Given the description of an element on the screen output the (x, y) to click on. 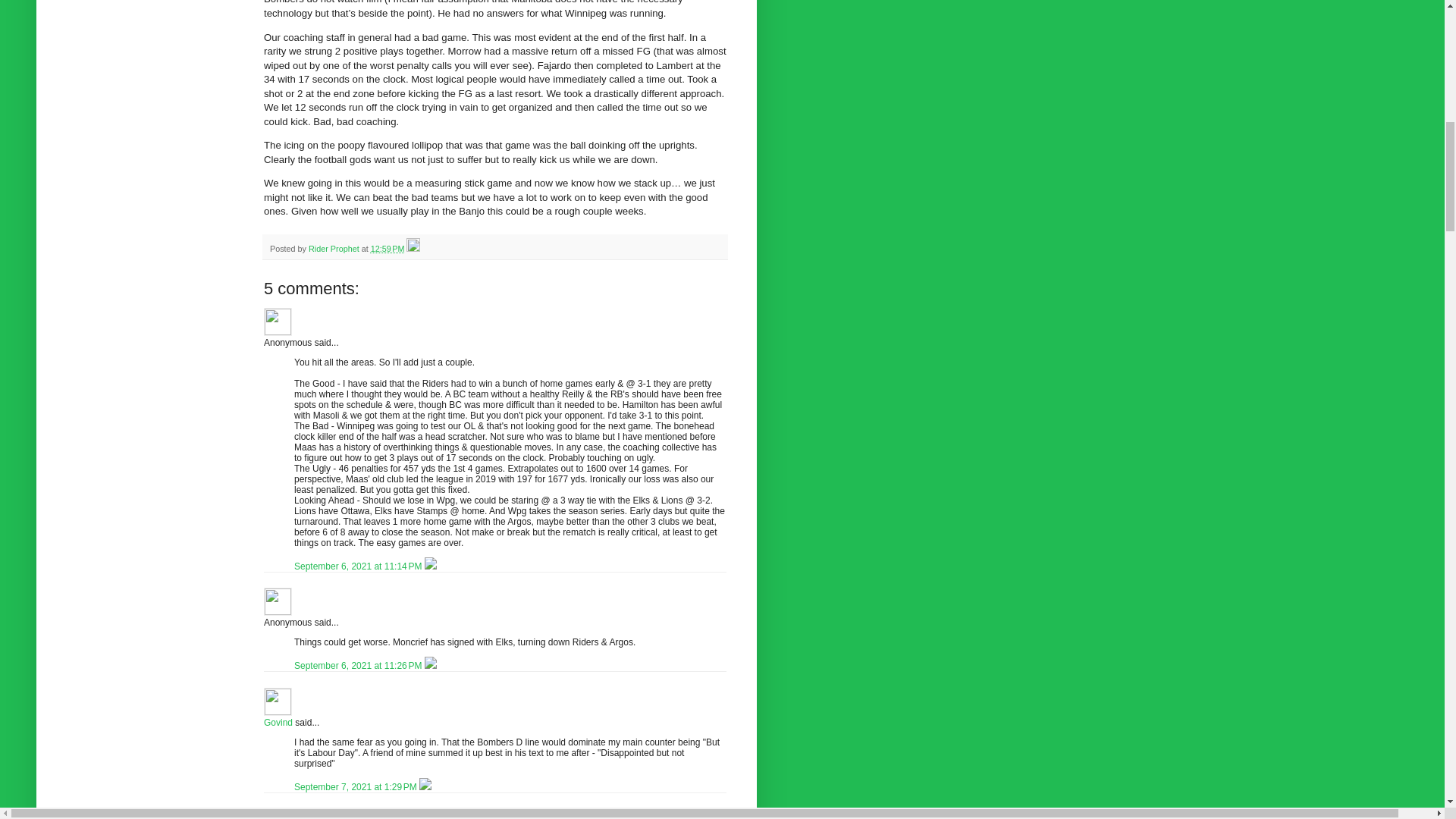
Rider Prophet (334, 248)
comment permalink (359, 566)
Edit Post (413, 248)
Delete Comment (430, 566)
permanent link (387, 248)
pantsonfire (277, 813)
author profile (334, 248)
Govind (277, 701)
comment permalink (356, 787)
Govind (277, 722)
Anonymous (277, 321)
